Given the description of an element on the screen output the (x, y) to click on. 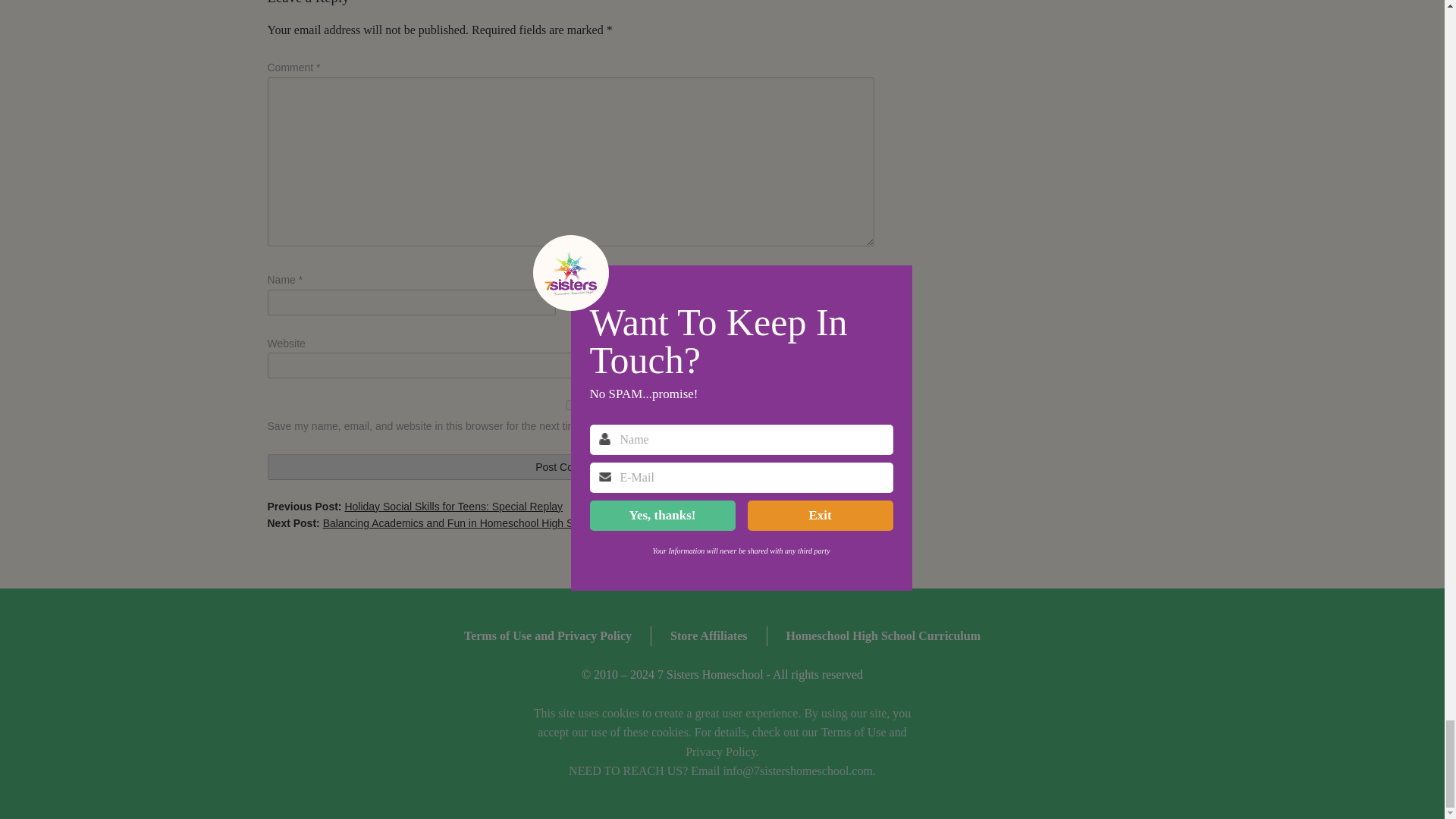
yes (569, 405)
Post Comment (569, 466)
